Given the description of an element on the screen output the (x, y) to click on. 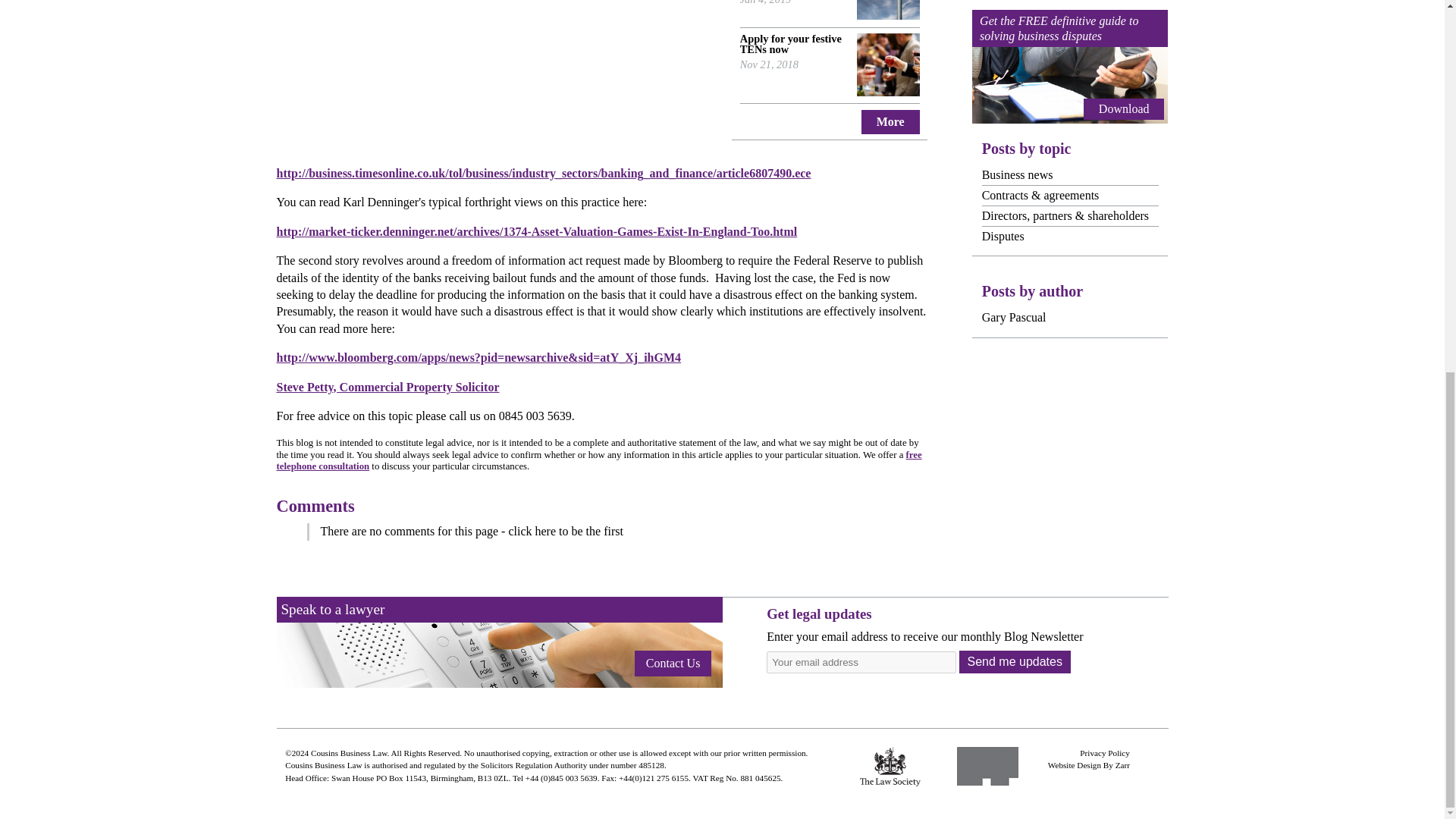
More (890, 121)
Disputes (1003, 235)
Apply for your festive TENs now (790, 43)
Business news (1016, 174)
Send me updates (1014, 661)
Website design by Zarr (1074, 764)
